Given the description of an element on the screen output the (x, y) to click on. 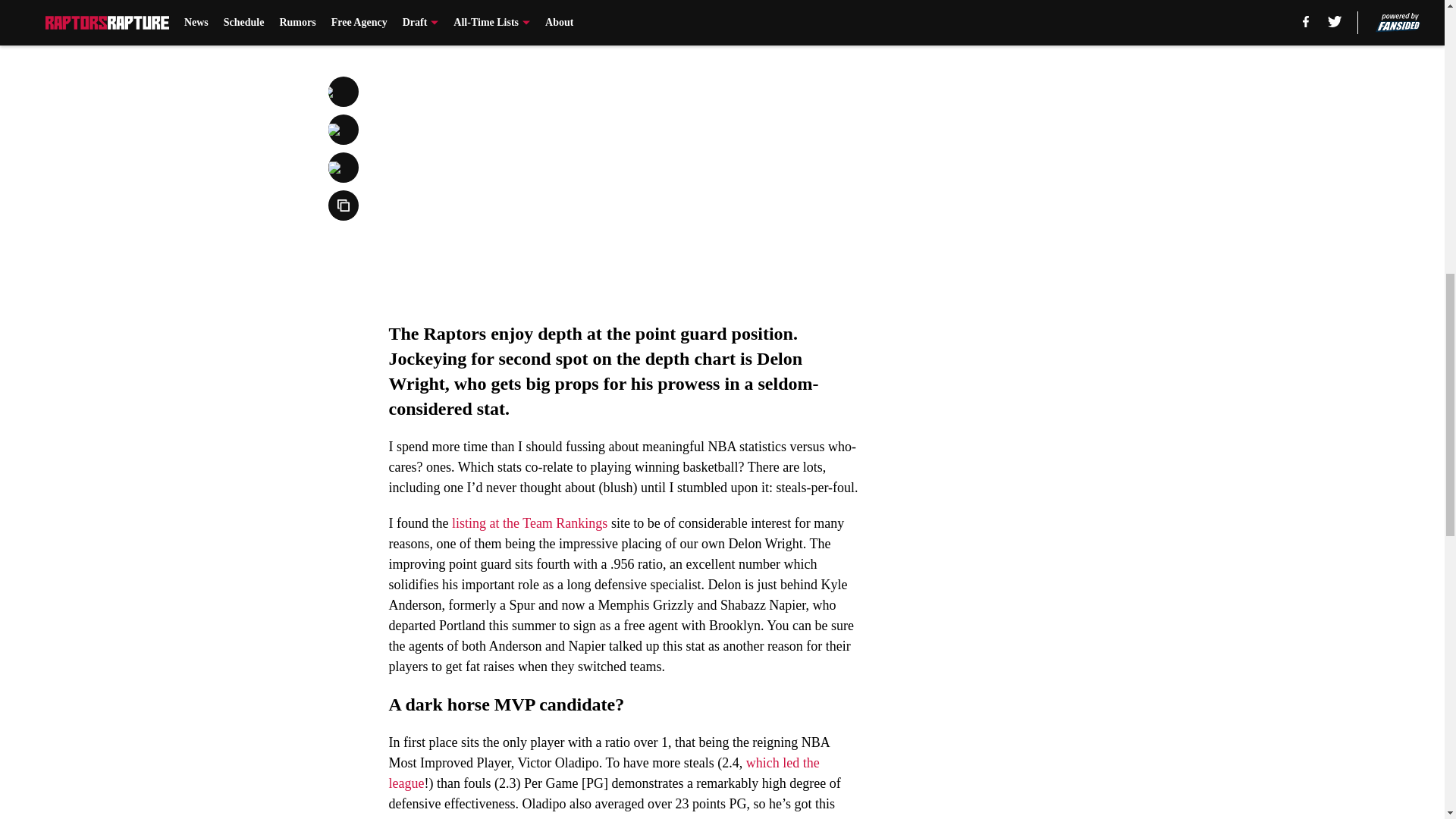
which led the league (603, 773)
listing at the Team Rankings (529, 522)
